Given the description of an element on the screen output the (x, y) to click on. 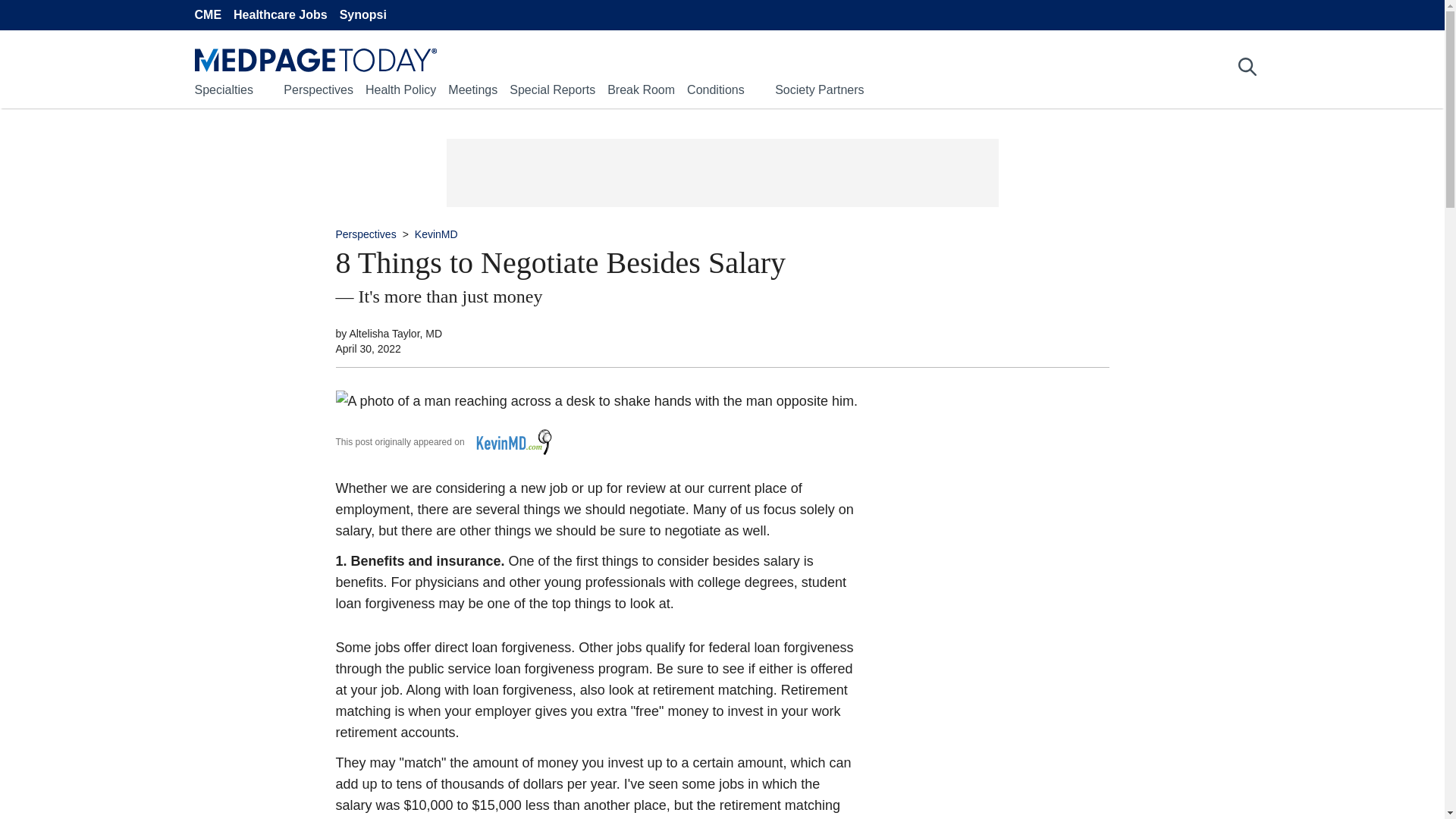
Healthcare Jobs (279, 15)
Opens in a new tab or window (507, 441)
Synopsi (363, 15)
CME (207, 15)
Specialties (222, 89)
